Given the description of an element on the screen output the (x, y) to click on. 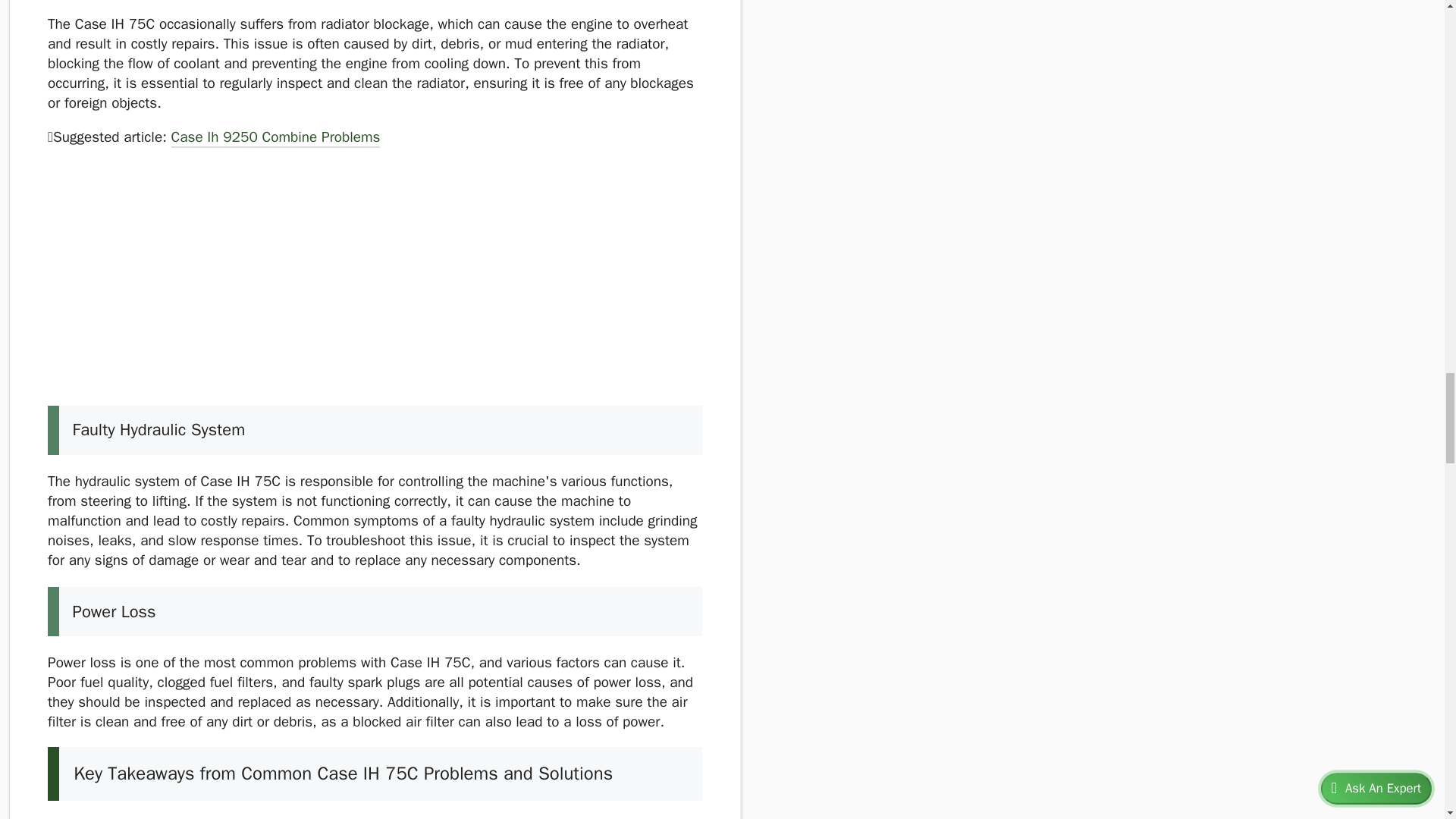
Case Ih 9250 Combine Problems (275, 138)
